Given the description of an element on the screen output the (x, y) to click on. 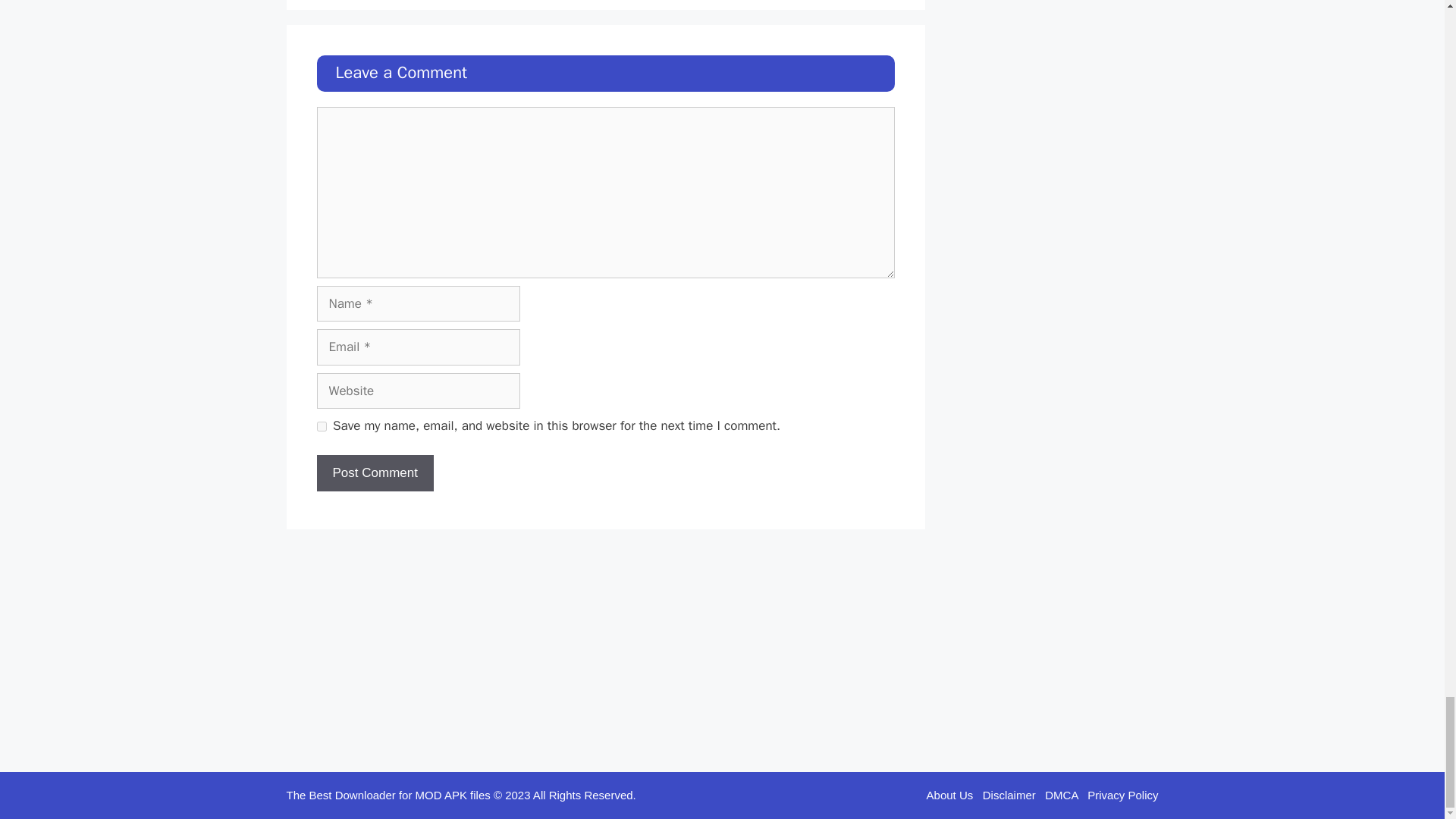
yes (321, 426)
Post Comment (375, 473)
